Given the description of an element on the screen output the (x, y) to click on. 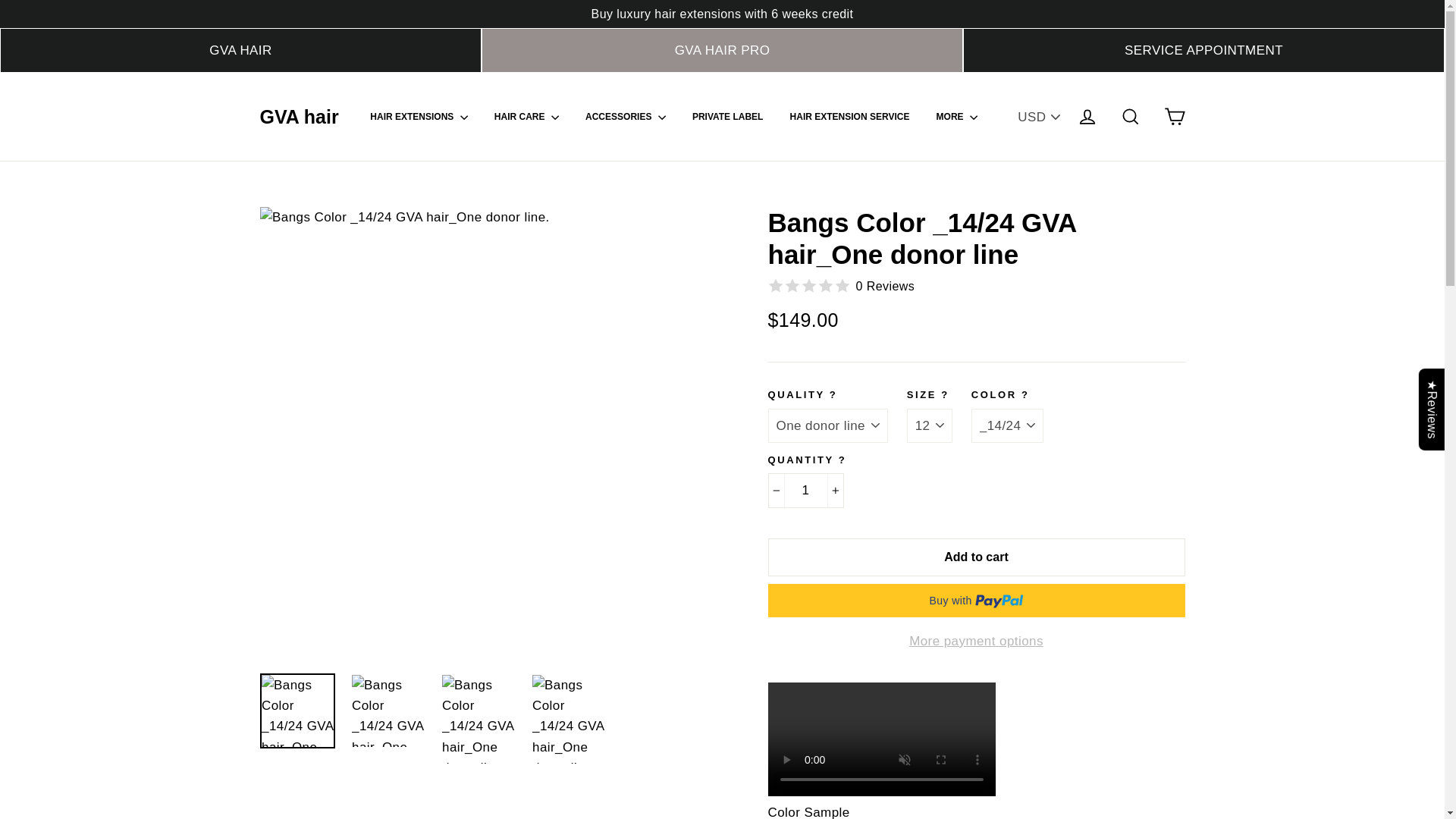
1 (805, 490)
